Given the description of an element on the screen output the (x, y) to click on. 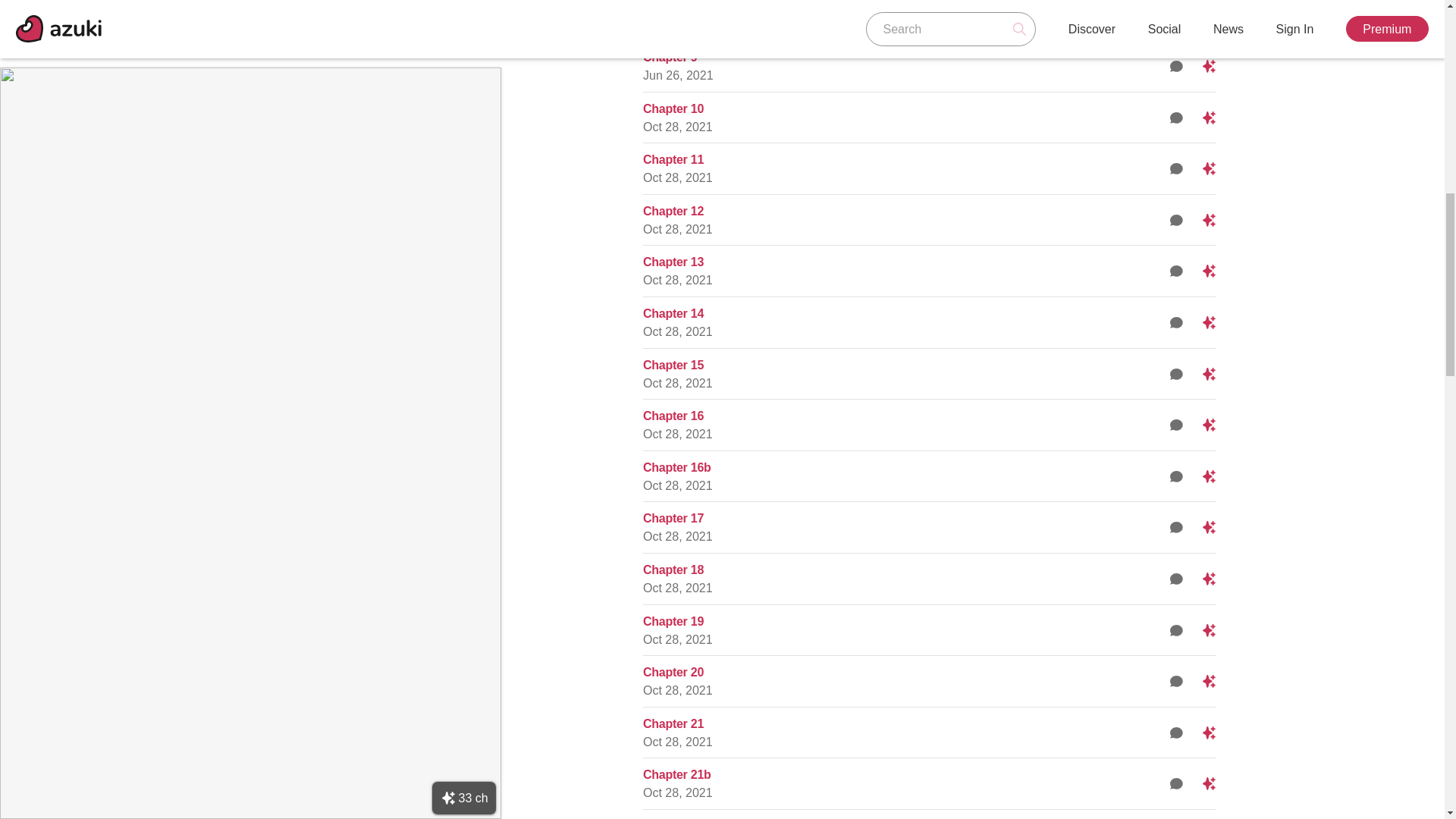
Comments (1177, 322)
Comments (1177, 270)
Comments (1177, 476)
Comments (1177, 14)
Comments (1177, 373)
Comments (1177, 168)
Comments (1177, 424)
Comments (1177, 116)
Comments (1177, 220)
Comments (1177, 66)
